Given the description of an element on the screen output the (x, y) to click on. 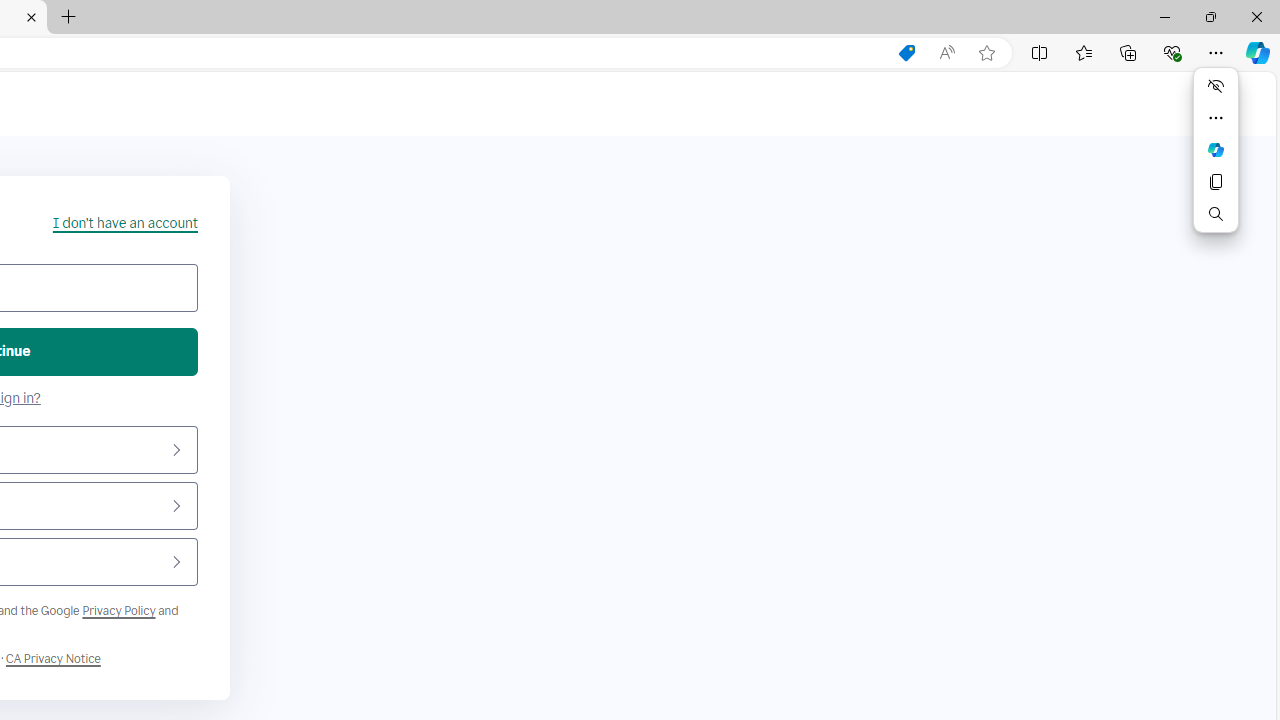
Grammarly Privacy Policy (53, 659)
More actions (1215, 117)
Mini menu on text selection (1215, 149)
Google Privacy Policy (118, 610)
Copy (1215, 182)
